Given the description of an element on the screen output the (x, y) to click on. 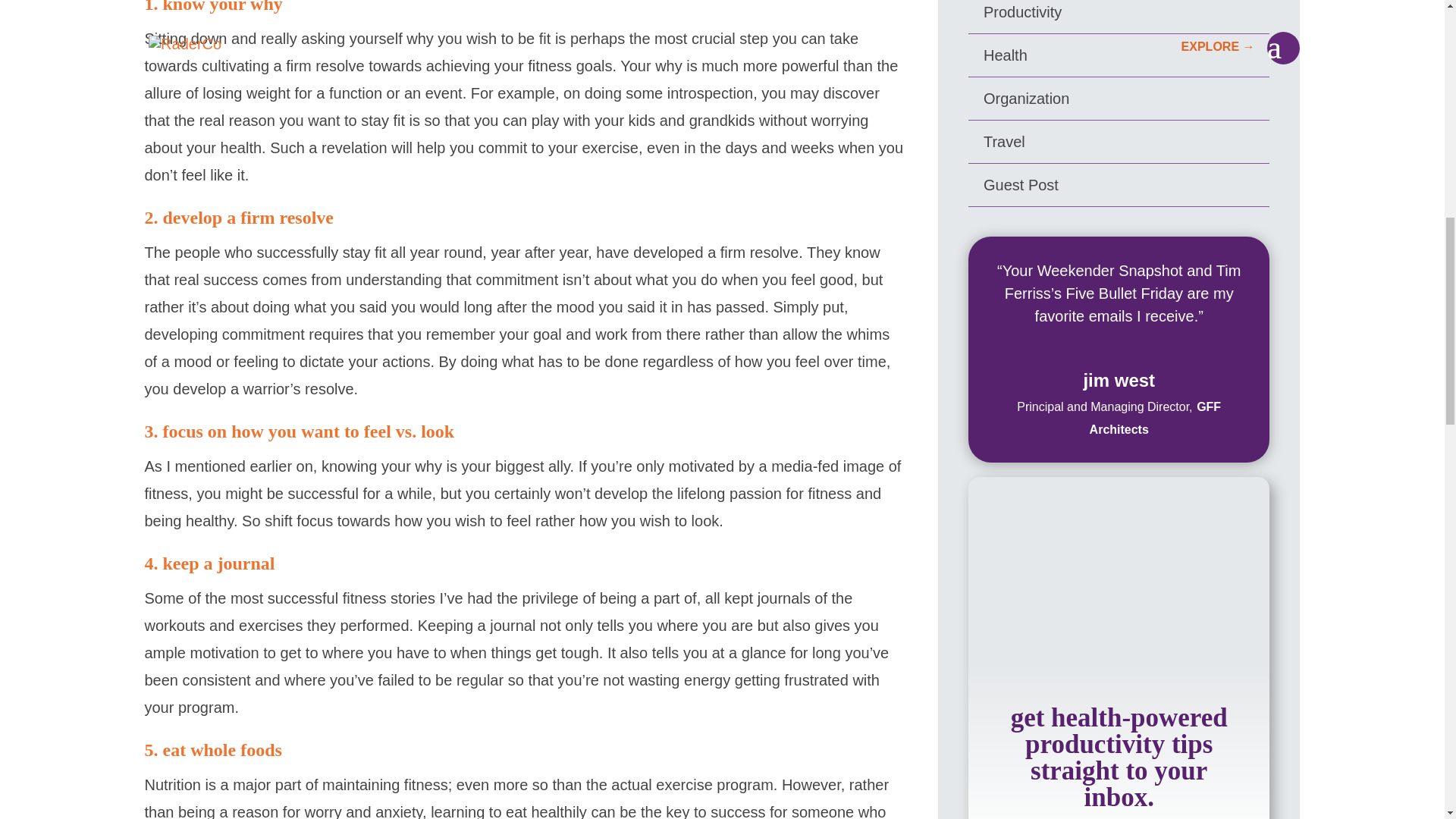
Productivity (1022, 12)
Travel (1004, 141)
Organization (1026, 98)
Guest Post (1021, 184)
Health (1005, 54)
